Given the description of an element on the screen output the (x, y) to click on. 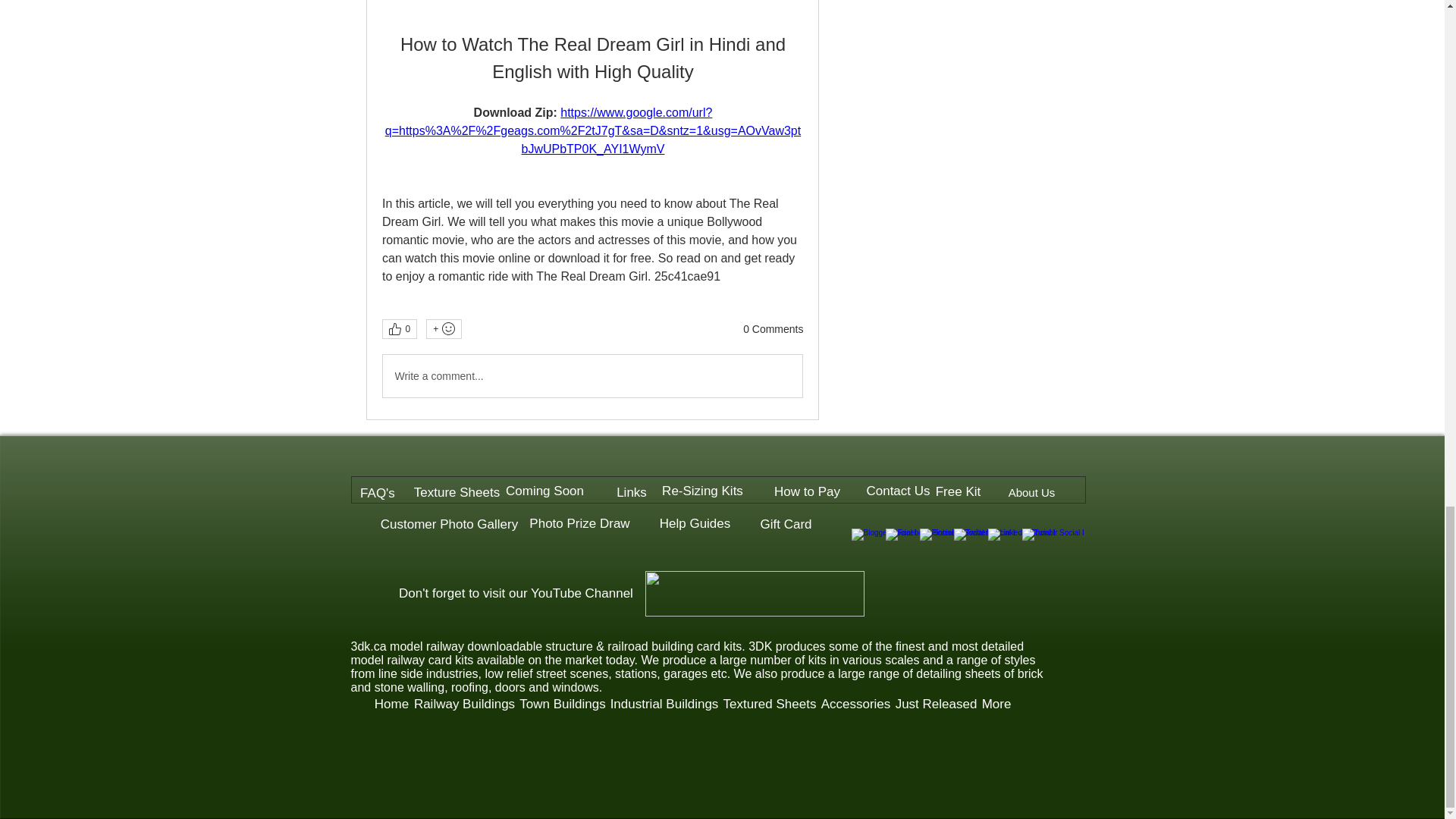
Write a comment... (591, 375)
0 Comments (772, 329)
